Given the description of an element on the screen output the (x, y) to click on. 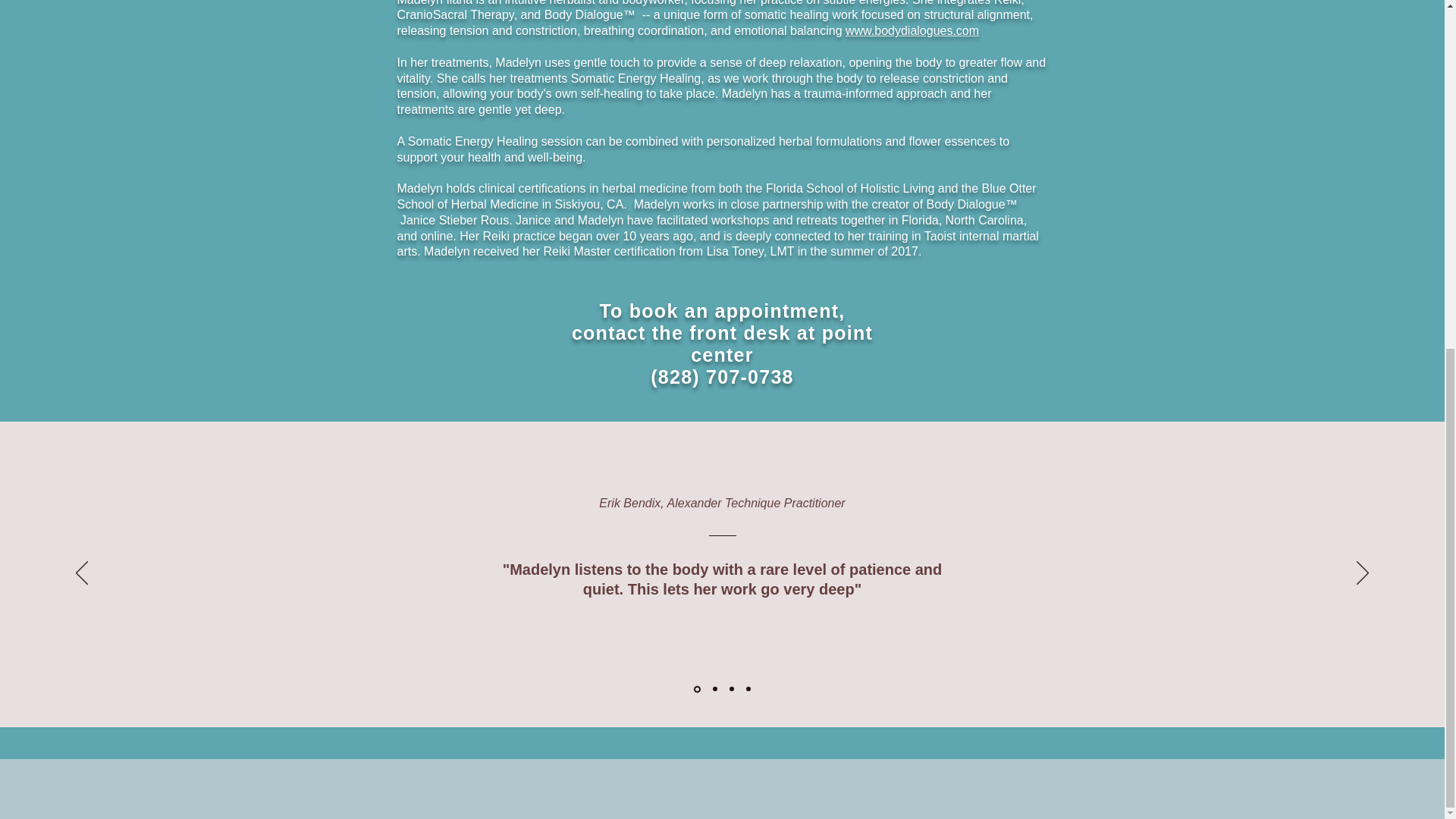
www.bodydialogues.com (911, 30)
